Given the description of an element on the screen output the (x, y) to click on. 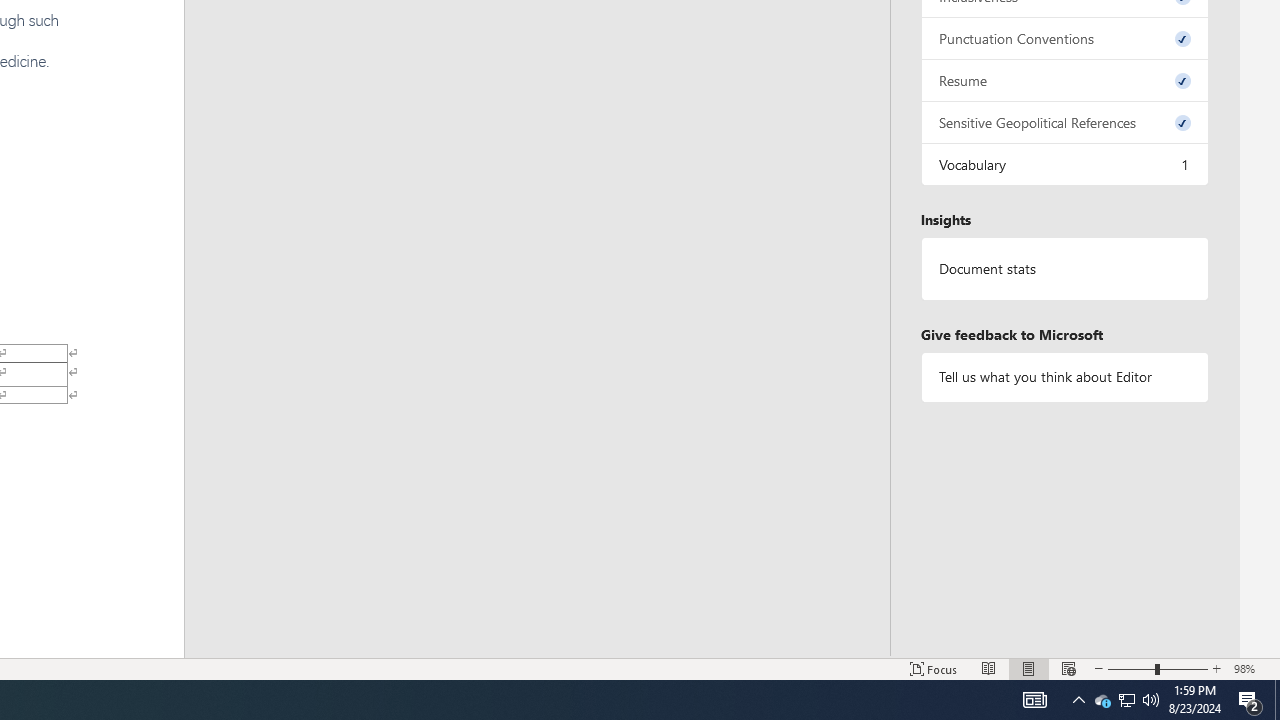
Resume, 0 issues. Press space or enter to review items. (1064, 79)
Document statistics (1064, 269)
Vocabulary, 1 issue. Press space or enter to review items. (1064, 164)
Tell us what you think about Editor (1064, 376)
